Given the description of an element on the screen output the (x, y) to click on. 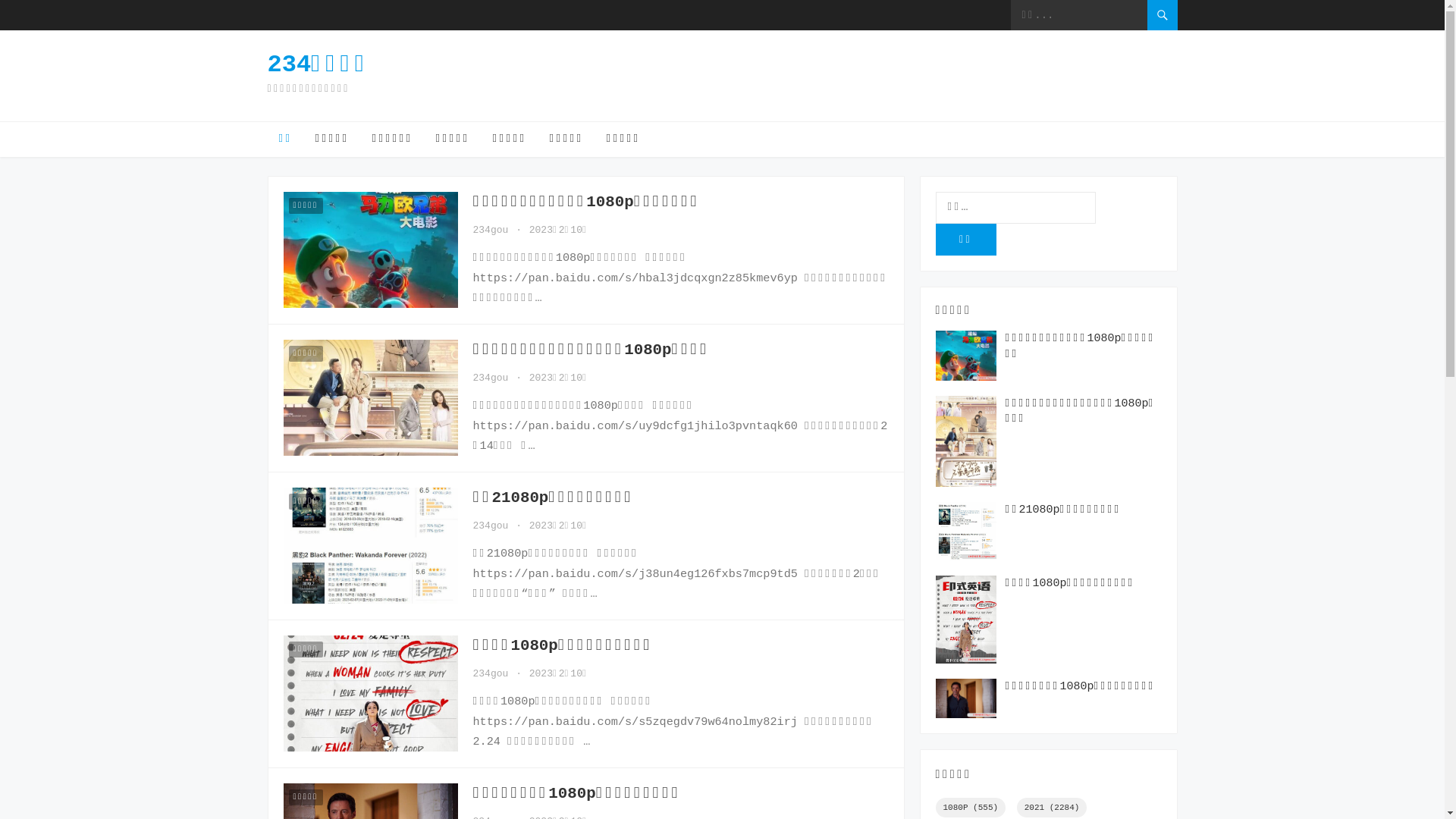
234gou Element type: text (490, 377)
234gou Element type: text (490, 229)
2021 (2284) Element type: text (1051, 807)
234gou Element type: text (490, 673)
234gou Element type: text (490, 525)
1080P (555) Element type: text (970, 807)
